Given the description of an element on the screen output the (x, y) to click on. 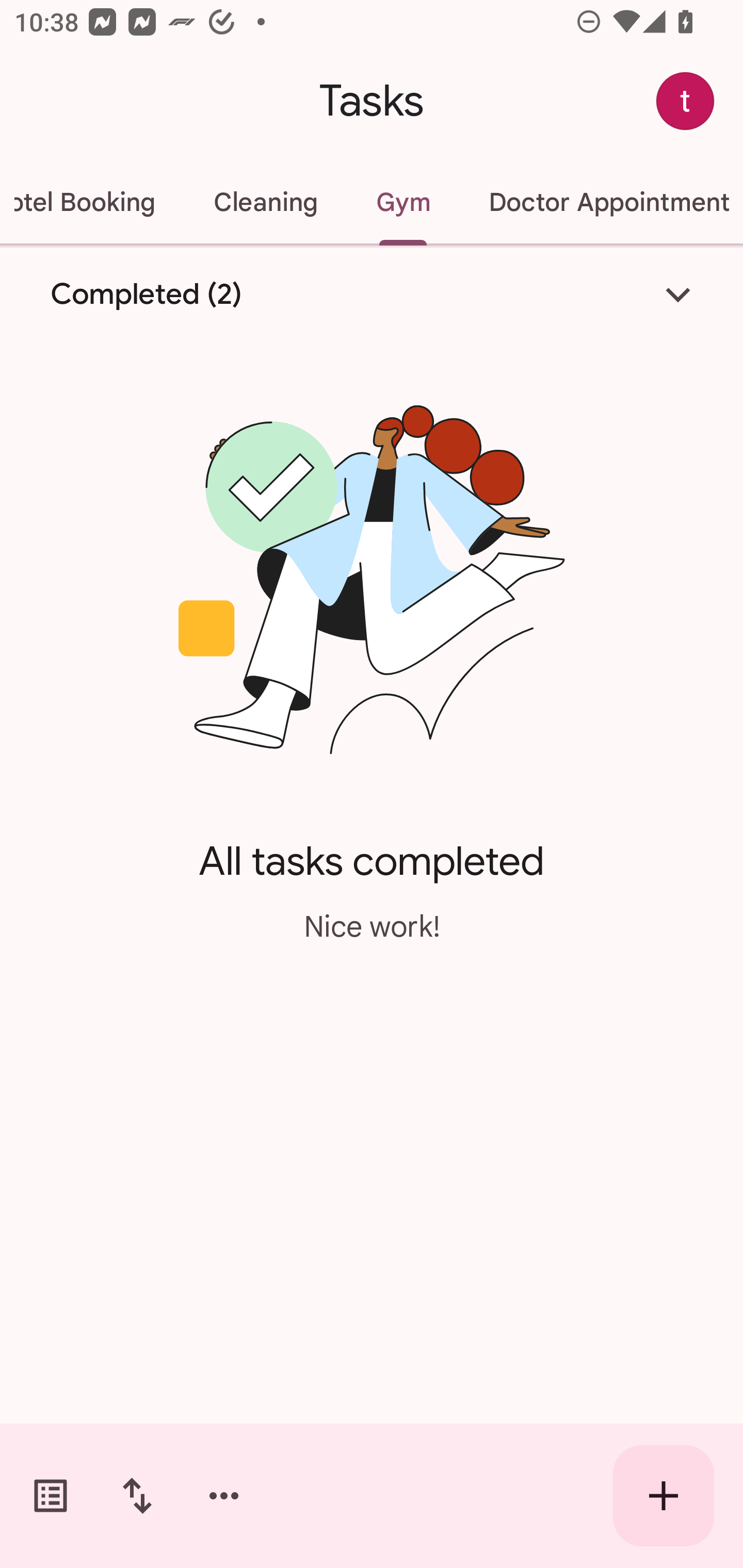
Hotel Booking (92, 202)
Cleaning (265, 202)
Doctor Appointment (601, 202)
Completed (2) (371, 294)
Switch task lists (50, 1495)
Create new task (663, 1495)
Change sort order (136, 1495)
More options (223, 1495)
